Given the description of an element on the screen output the (x, y) to click on. 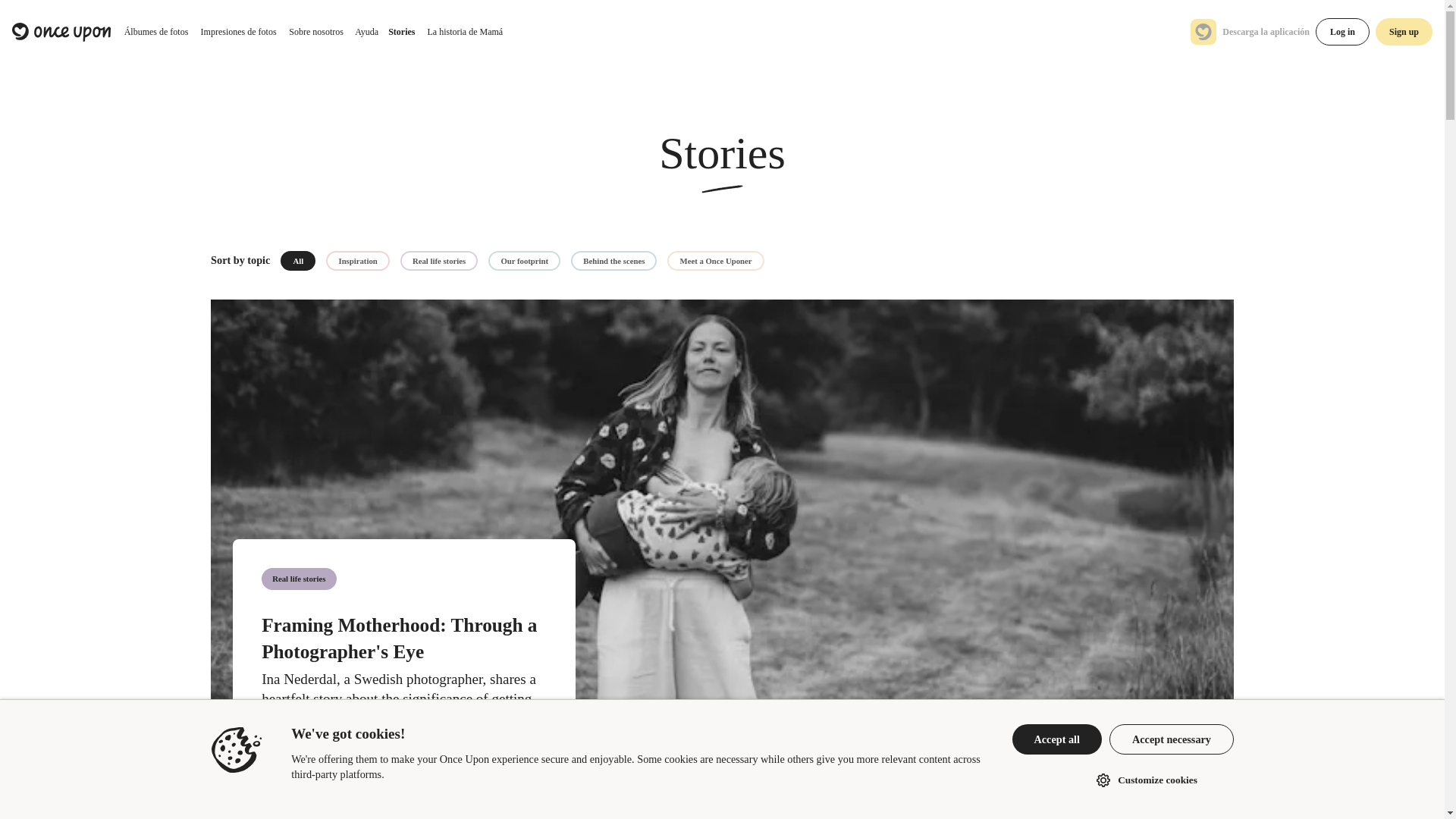
Customize cookies (1142, 779)
Accept necessary (1171, 738)
Sobre nosotros (315, 31)
Accept all (1056, 738)
Stories (401, 31)
Sobre nosotros (315, 31)
Stories (401, 31)
Impresiones de fotos (237, 31)
Impresiones de fotos (237, 31)
Ayuda (366, 31)
Ayuda (366, 31)
